Given the description of an element on the screen output the (x, y) to click on. 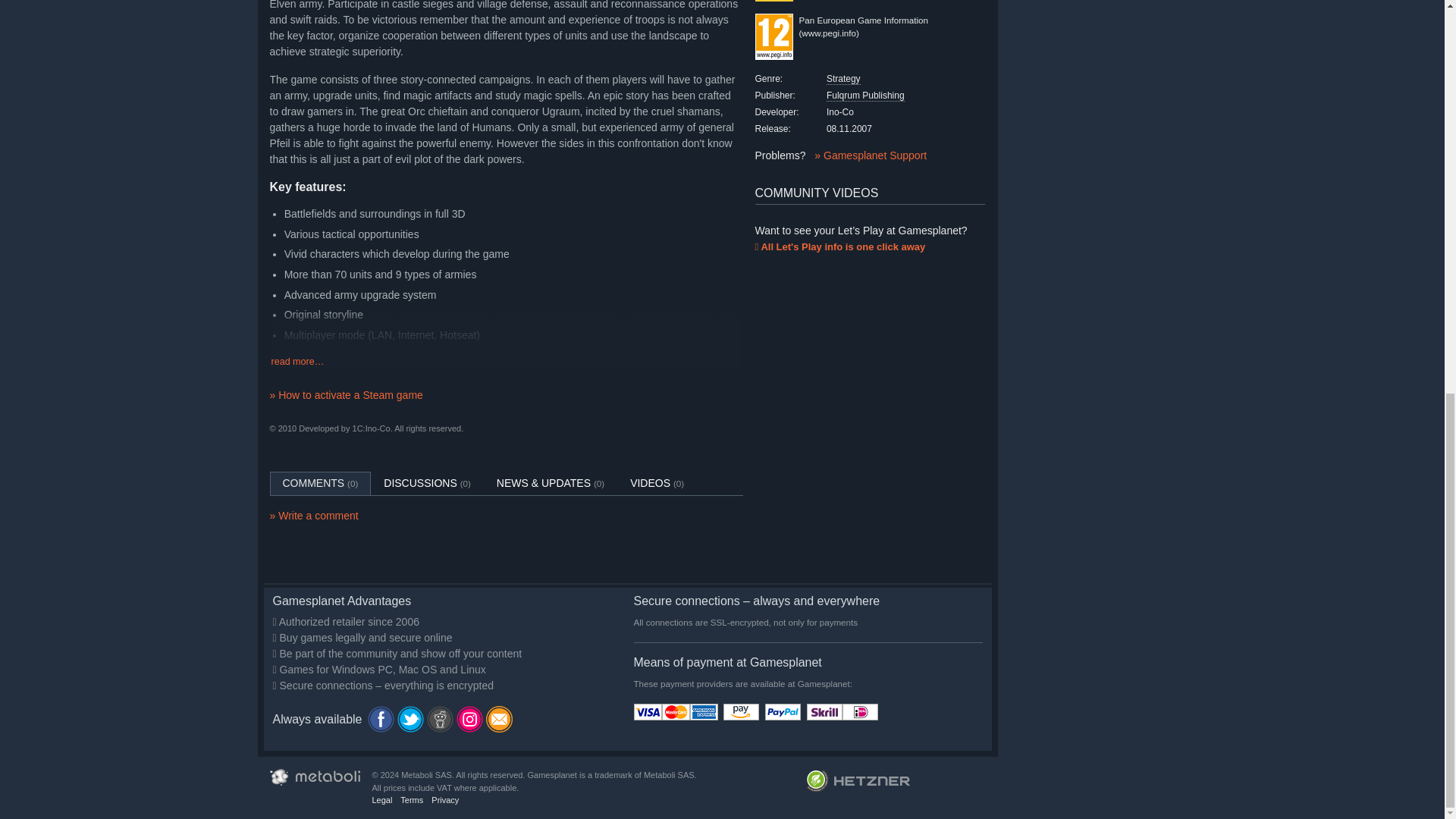
translation missing: en-GB.community.tabs.videos (649, 482)
